Given the description of an element on the screen output the (x, y) to click on. 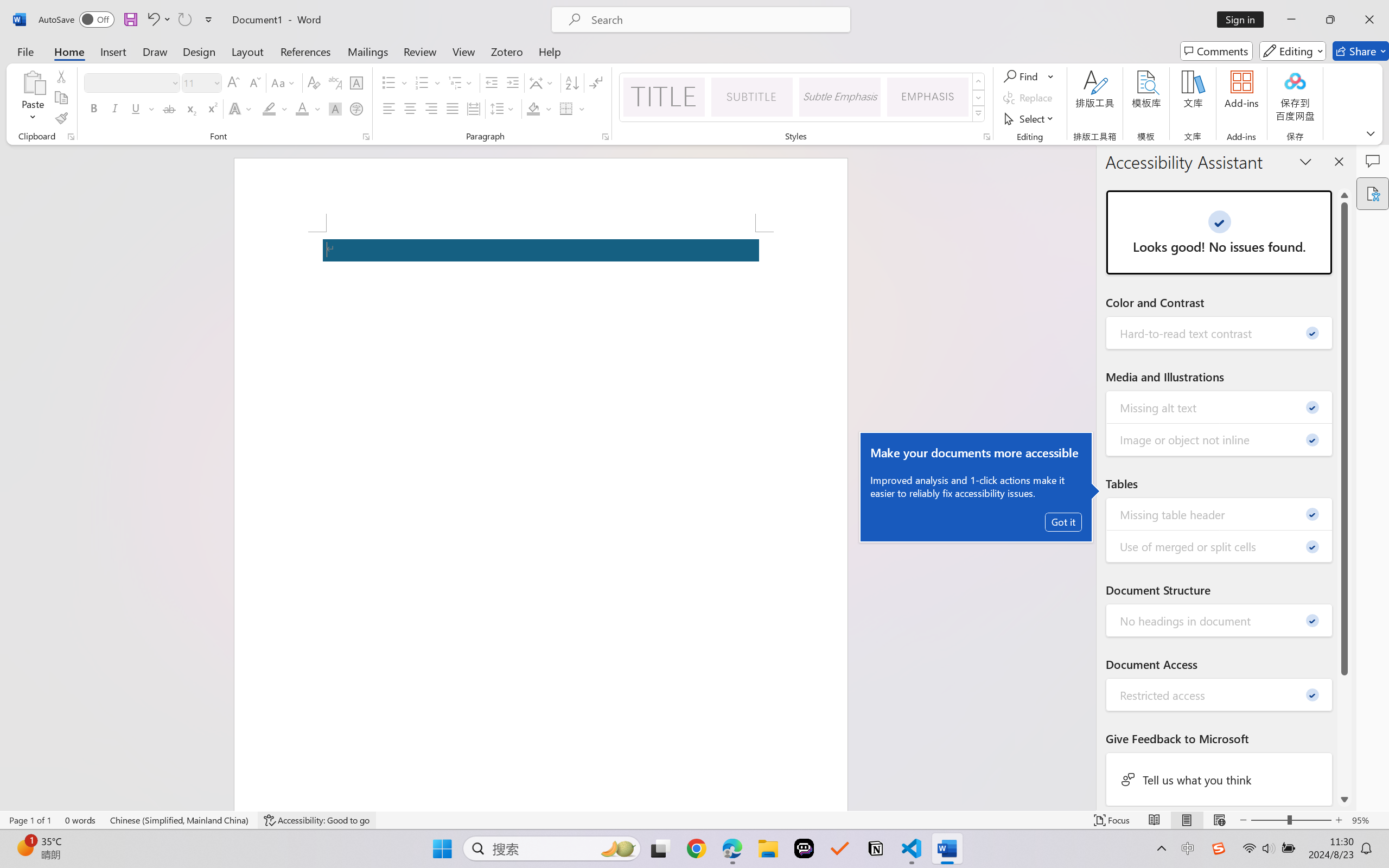
Page down (1344, 733)
Subtle Emphasis (839, 96)
